Given the description of an element on the screen output the (x, y) to click on. 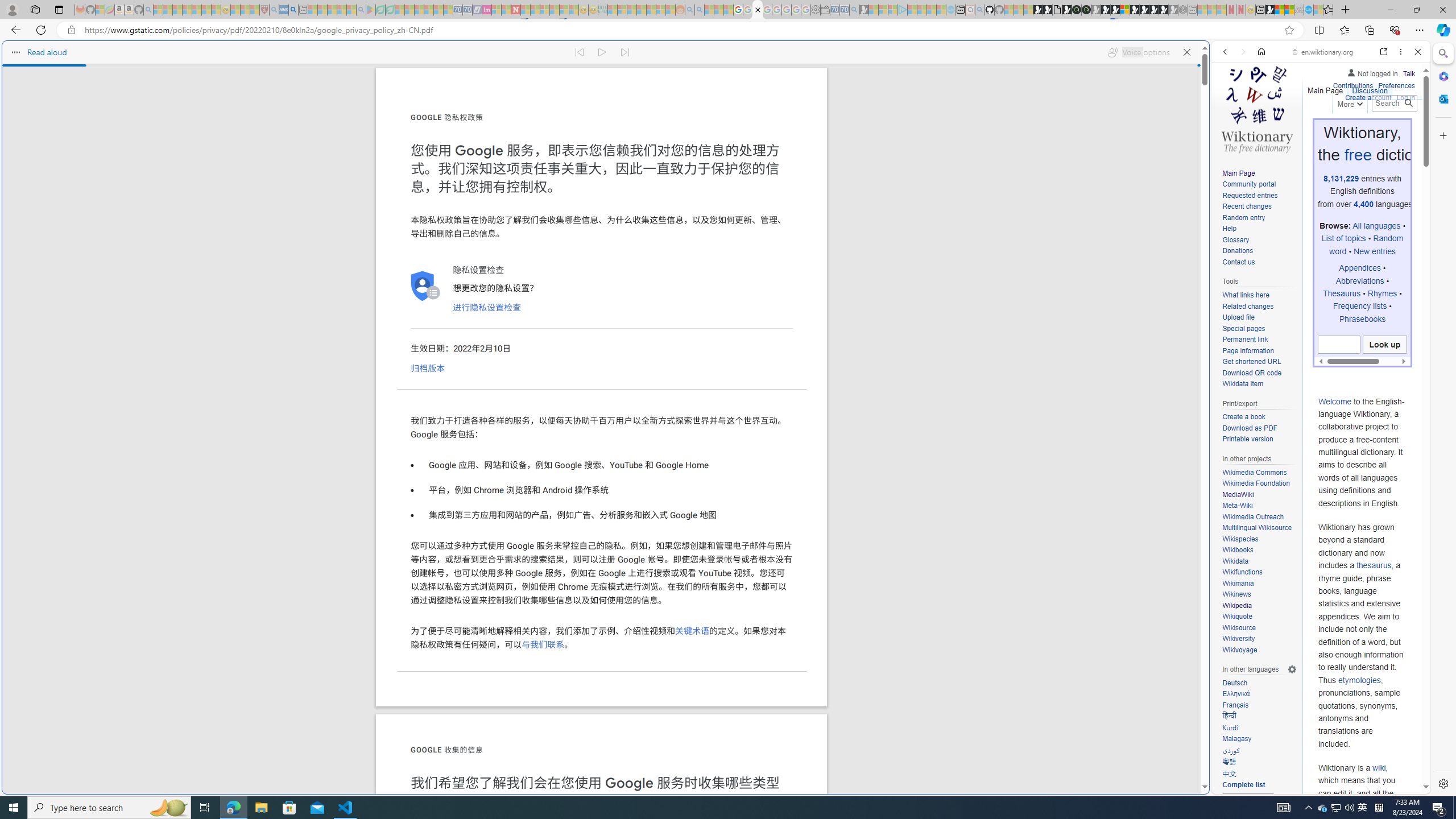
Pets - MSN - Sleeping (340, 9)
Frequency lists (1360, 306)
Create a book (1259, 417)
This site scope (1259, 102)
Search Filter, IMAGES (1262, 129)
Latest Politics News & Archive | Newsweek.com - Sleeping (515, 9)
Recipes - MSN - Sleeping (234, 9)
Upload file (1238, 317)
Requested entries (1259, 196)
Donations (1237, 250)
